Given the description of an element on the screen output the (x, y) to click on. 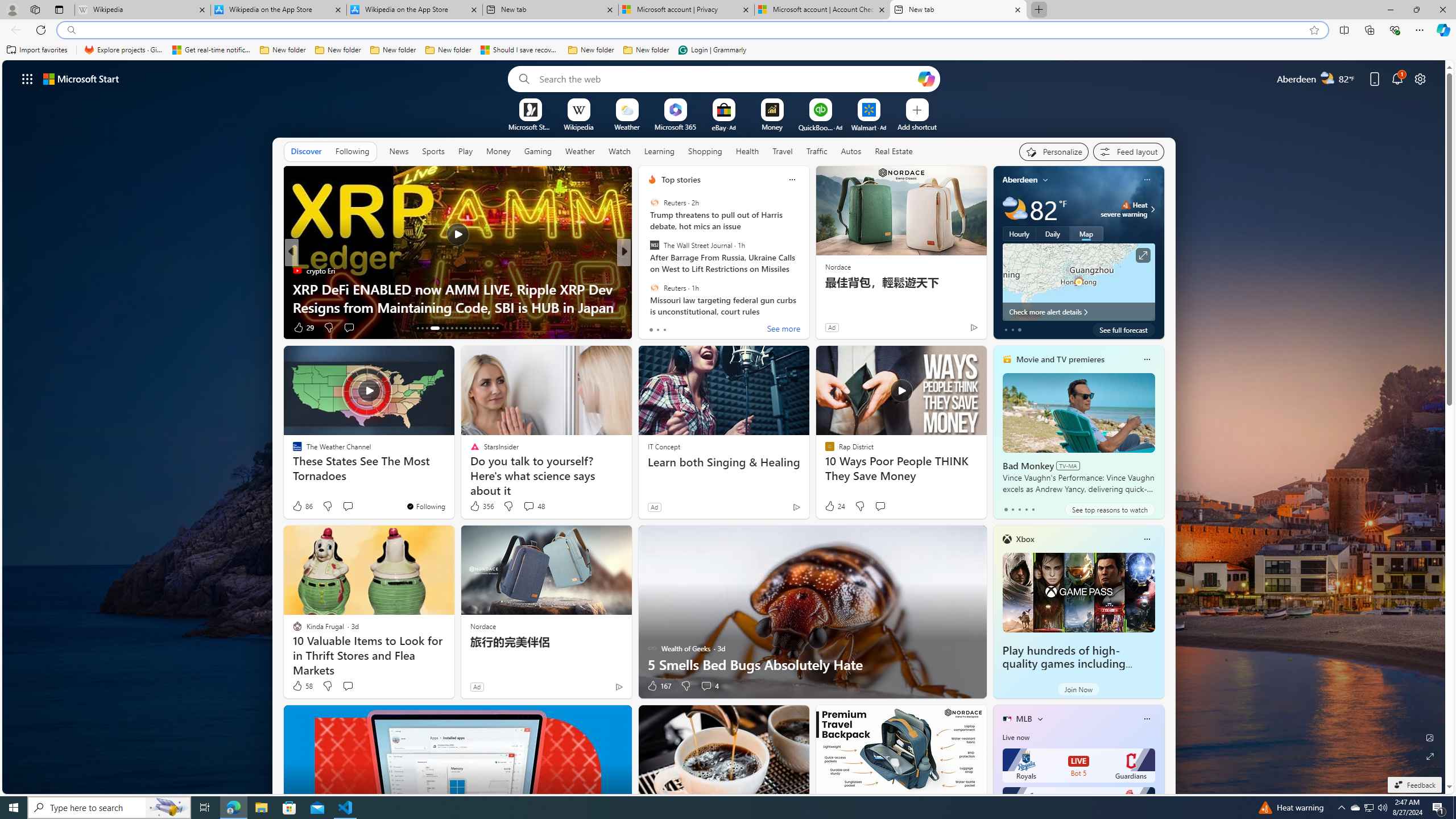
AutomationID: tab-25 (478, 328)
Daily (1052, 233)
Simply More Time (647, 270)
Top stories (680, 179)
AutomationID: tab-24 (474, 328)
11 Like (652, 327)
Class: weather-arrow-glyph (1152, 208)
To get missing image descriptions, open the context menu. (529, 109)
View comments 1 Comment (698, 327)
Search icon (70, 29)
1 Like (651, 327)
Following (352, 151)
Sports (432, 151)
Real Estate (893, 151)
